Given the description of an element on the screen output the (x, y) to click on. 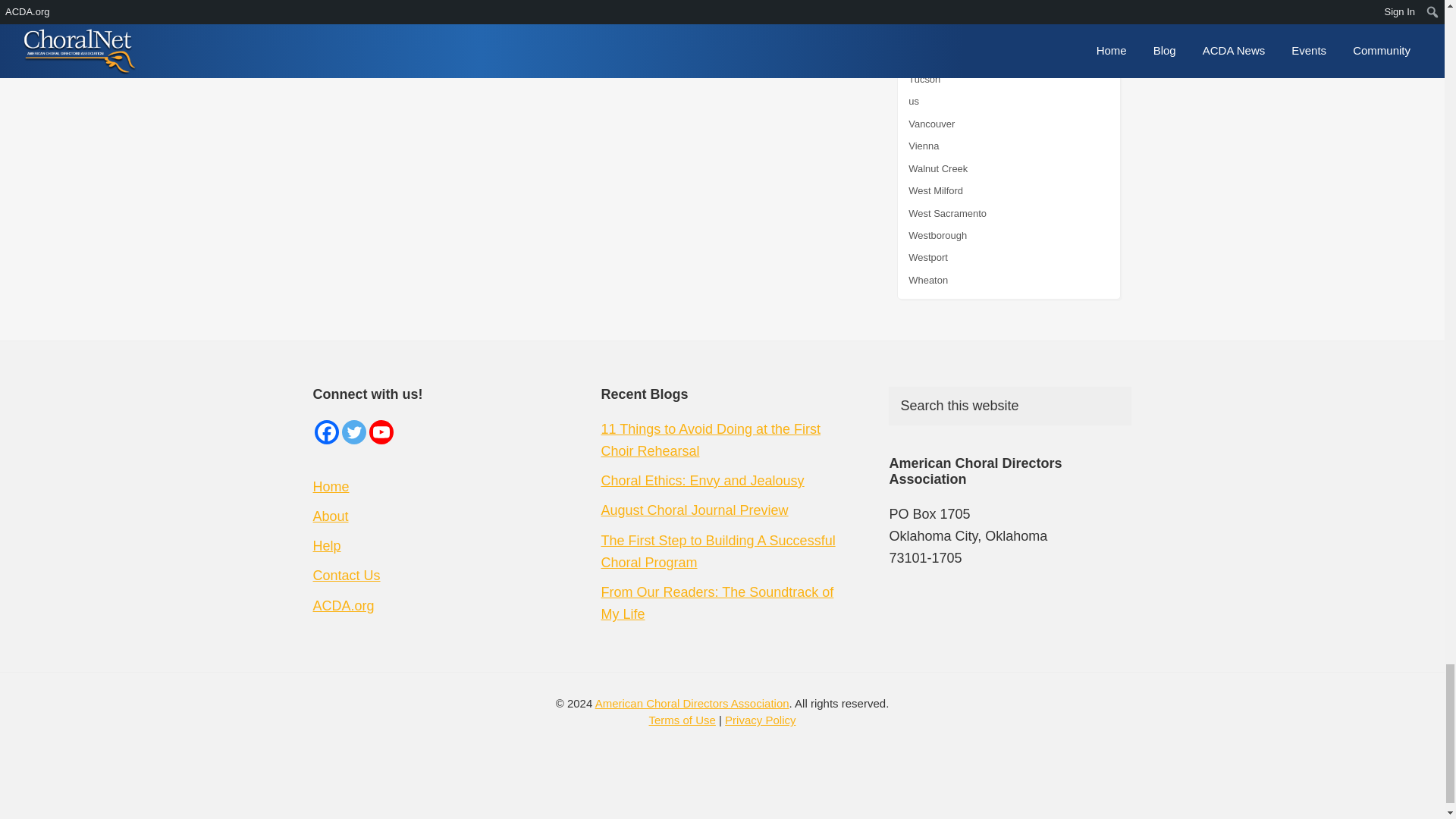
Twitter (352, 432)
American Choral Directors Association (343, 605)
Facebook (325, 432)
Youtube (380, 432)
